Given the description of an element on the screen output the (x, y) to click on. 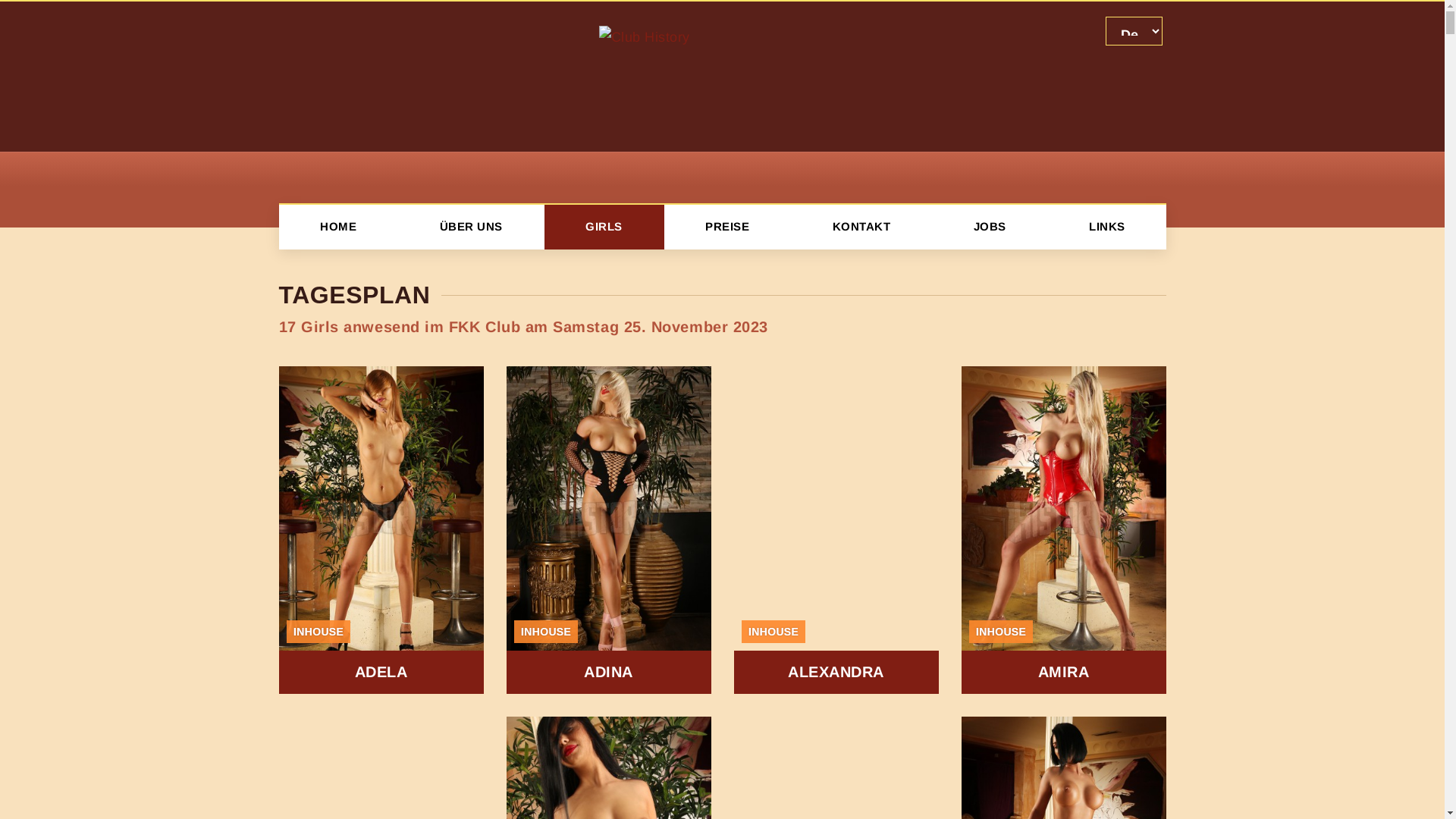
KONTAKT Element type: text (860, 226)
ADELA Element type: text (381, 529)
PREISE Element type: text (727, 226)
JOBS Element type: text (989, 226)
GIRLS Element type: text (604, 226)
ADINA Element type: text (608, 529)
HOME Element type: text (338, 226)
LINKS Element type: text (1107, 226)
ALEXANDRA Element type: text (836, 529)
AMIRA Element type: text (1063, 529)
